Given the description of an element on the screen output the (x, y) to click on. 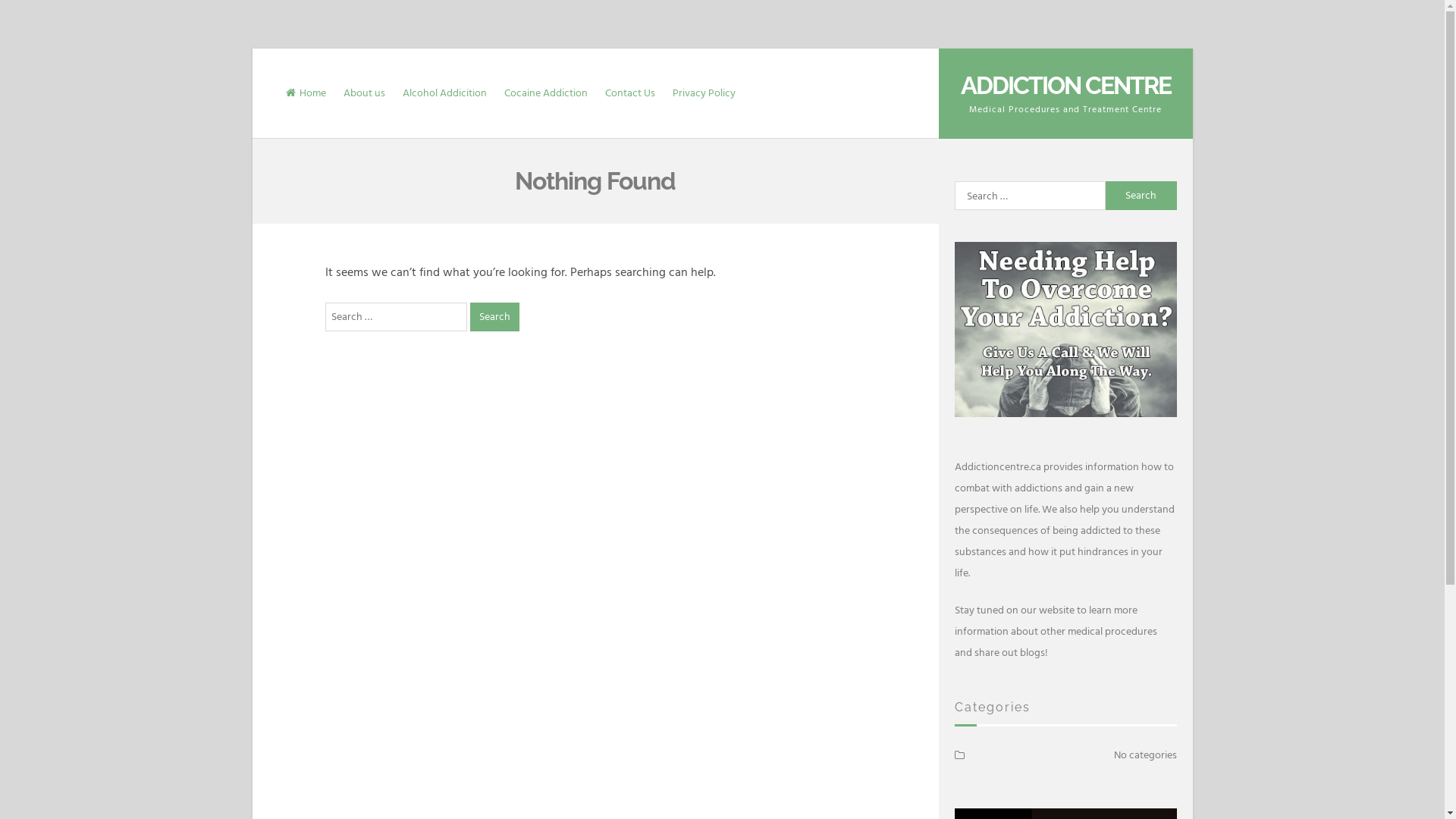
ADDICTION CENTRE Element type: text (1065, 85)
Cocaine Addiction Element type: text (544, 93)
About us Element type: text (363, 93)
Privacy Policy Element type: text (703, 93)
Home Element type: text (304, 93)
Search Element type: text (1140, 195)
Skip to content Element type: text (251, 48)
Contact Us Element type: text (629, 93)
Search Element type: text (494, 316)
Alcohol Addicition Element type: text (443, 93)
